Given the description of an element on the screen output the (x, y) to click on. 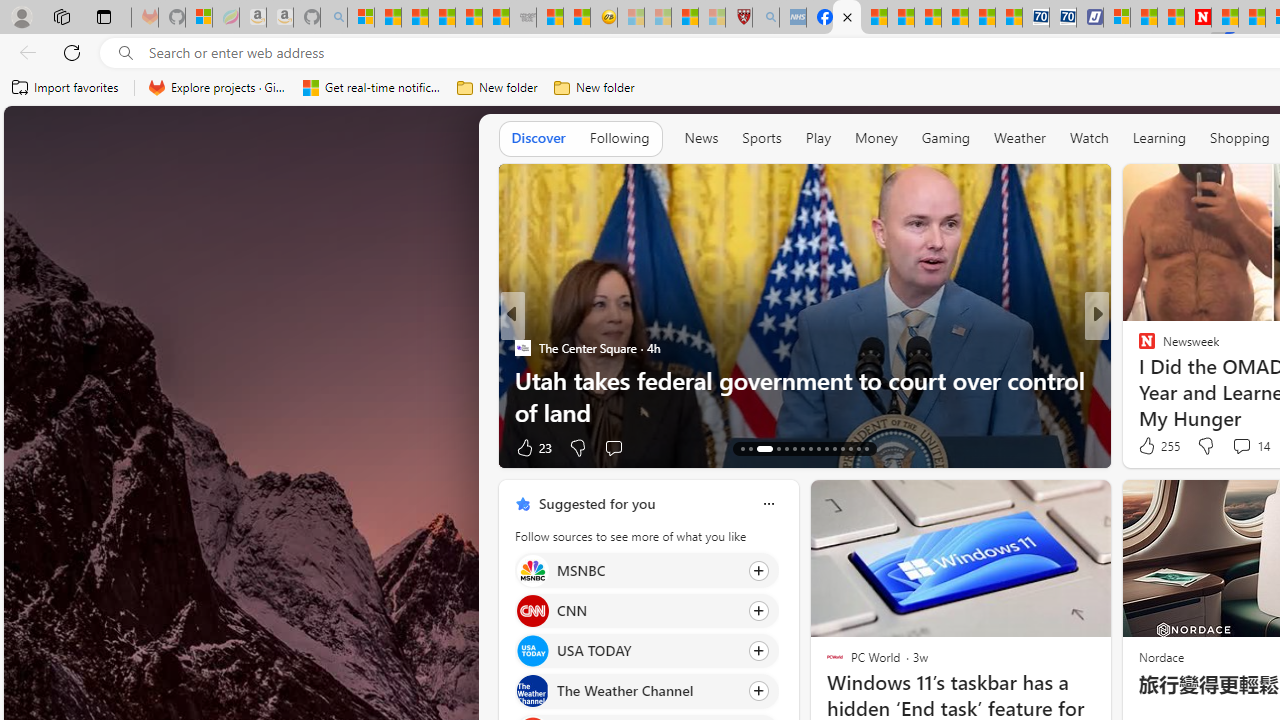
AutomationID: tab-69 (774, 448)
